Given the description of an element on the screen output the (x, y) to click on. 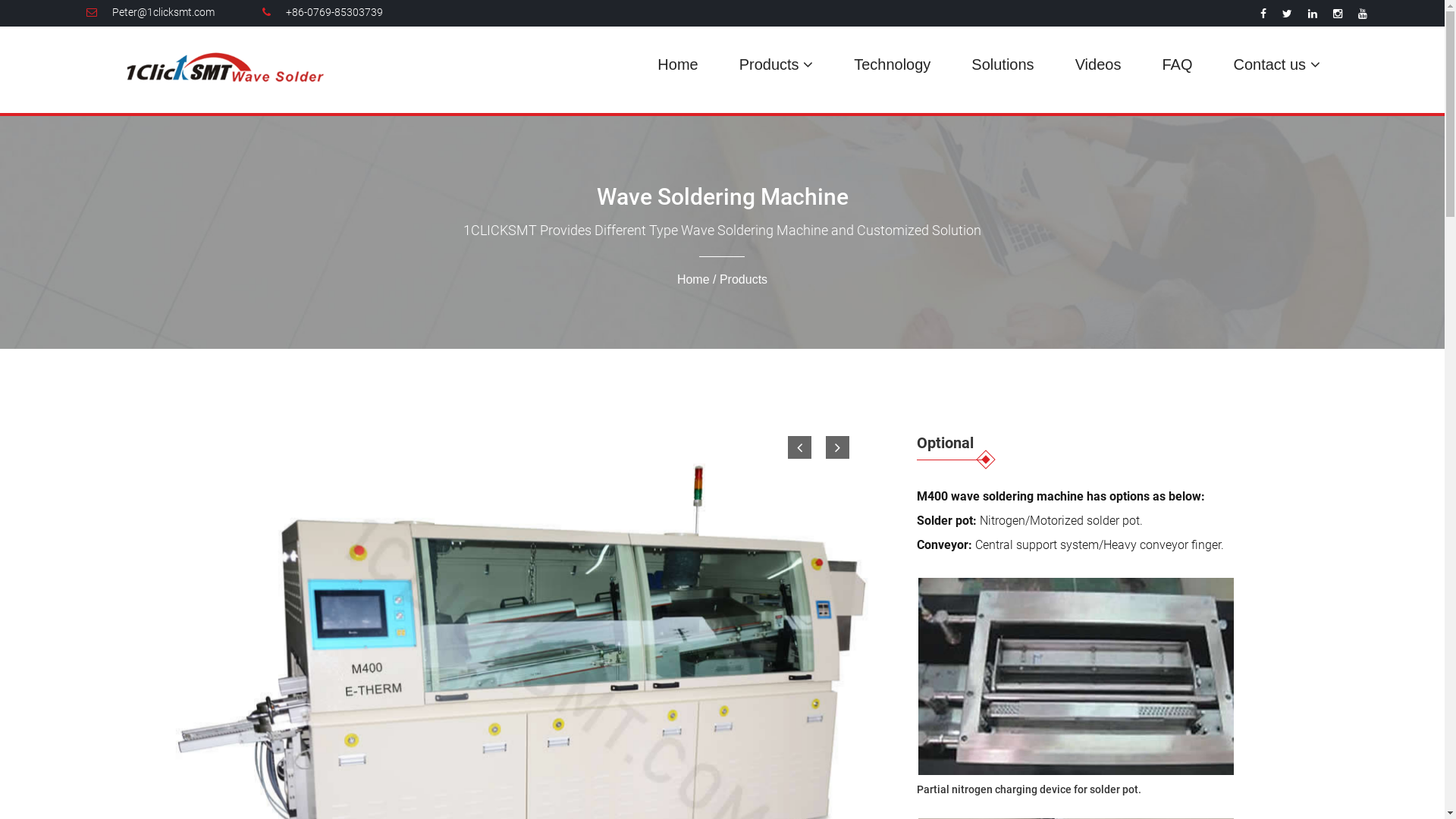
Facebook Element type: hover (1263, 13)
Videos Element type: text (1097, 64)
Home Element type: text (693, 279)
Solutions Element type: text (1002, 64)
Home Element type: text (677, 64)
Youtube Element type: hover (1362, 13)
Twitter Element type: hover (1287, 13)
Contact us Element type: text (1275, 64)
Instagram Element type: hover (1337, 13)
FAQ Element type: text (1176, 64)
Technology Element type: text (891, 64)
Products Element type: text (776, 64)
